Given the description of an element on the screen output the (x, y) to click on. 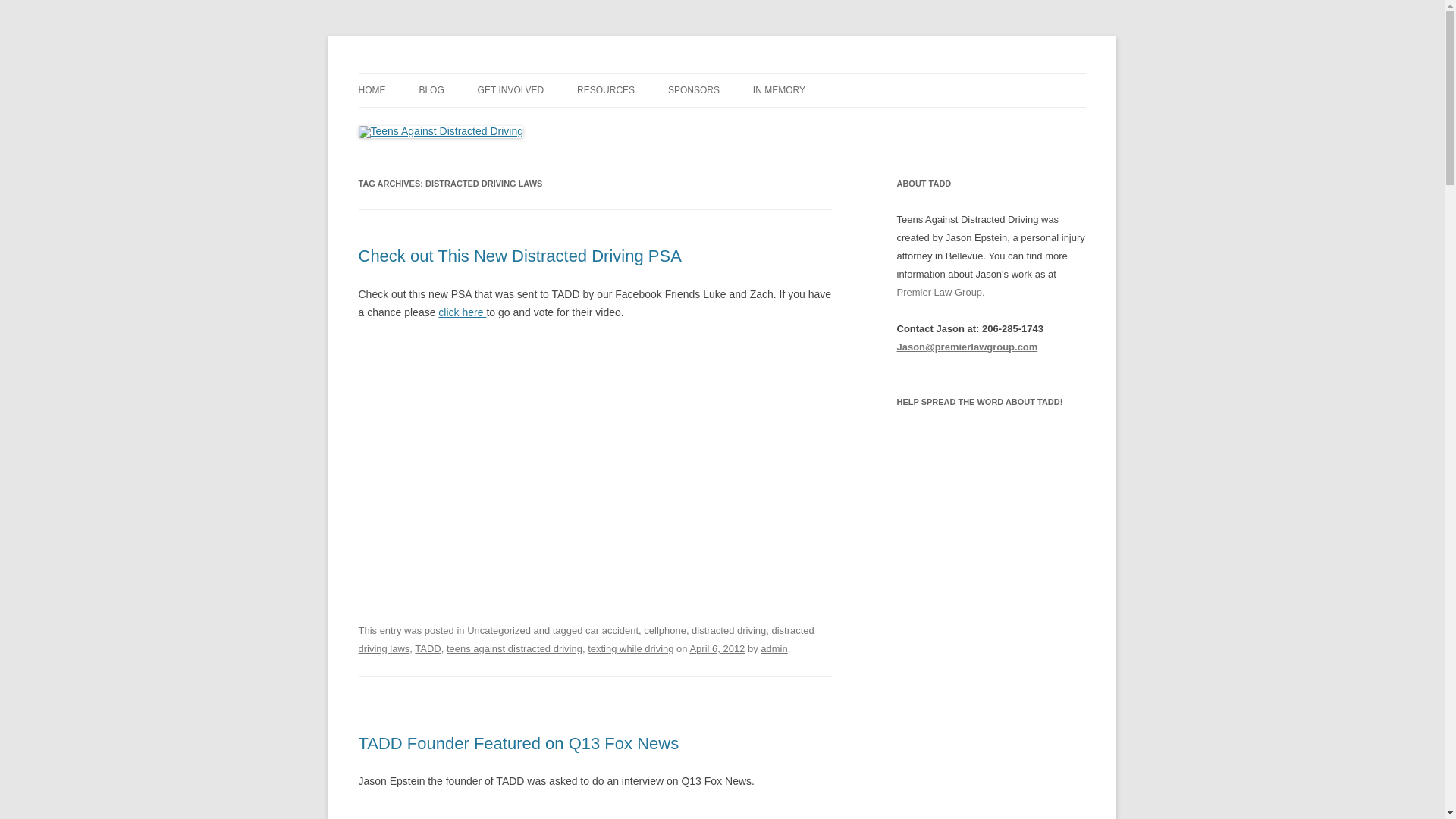
admin (773, 648)
Uncategorized (499, 630)
texting while driving (630, 648)
distracted driving laws (585, 639)
click here (462, 312)
Teens Against Distracted Driving (511, 72)
IN MEMORY (778, 90)
View all posts by admin (773, 648)
MEDIA (652, 122)
TADD (427, 648)
